Given the description of an element on the screen output the (x, y) to click on. 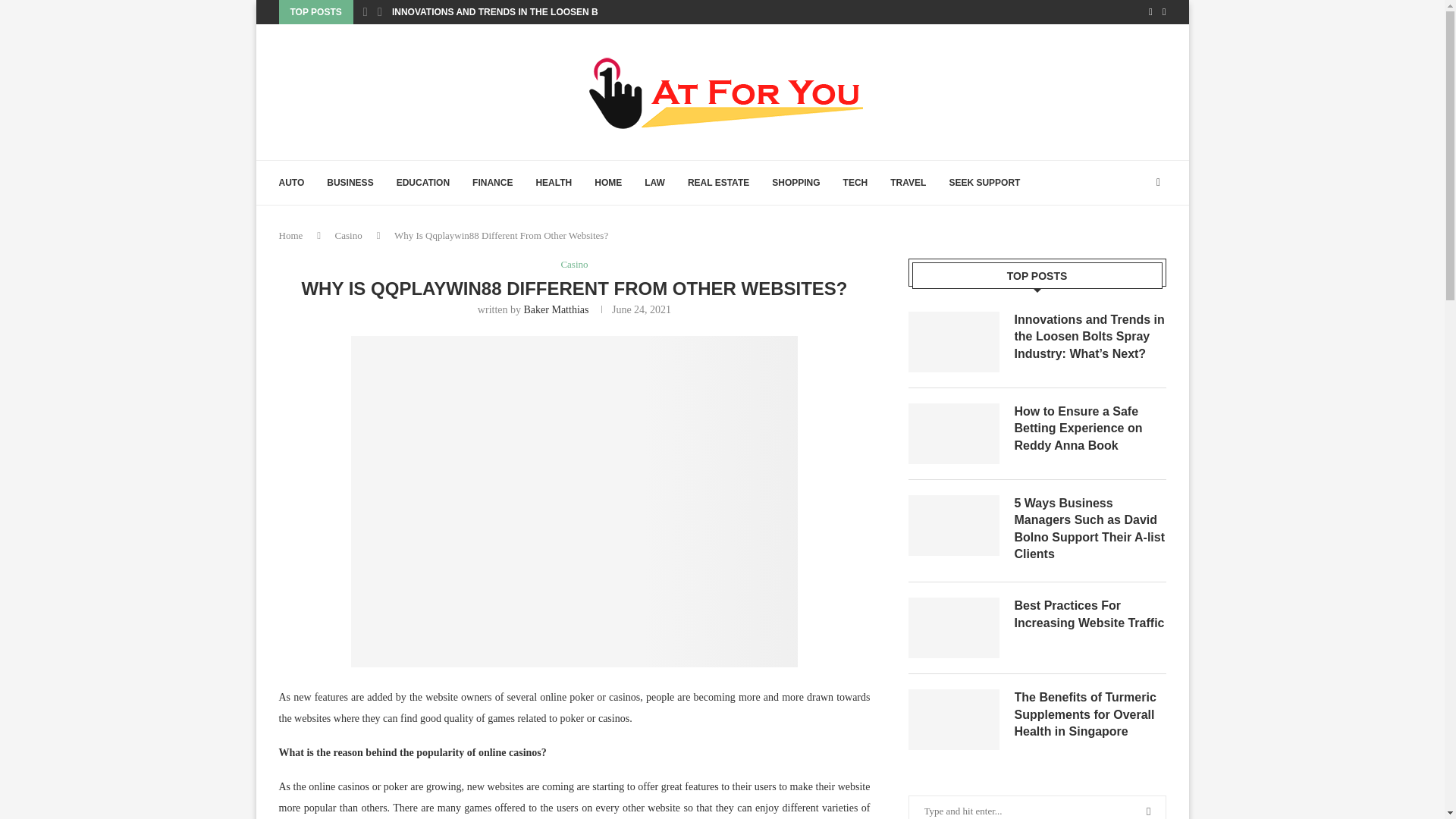
SEEK SUPPORT (984, 182)
REAL ESTATE (718, 182)
FINANCE (491, 182)
BUSINESS (349, 182)
EDUCATION (422, 182)
SHOPPING (795, 182)
INNOVATIONS AND TRENDS IN THE LOOSEN BOLTS SPRAY... (526, 12)
